Given the description of an element on the screen output the (x, y) to click on. 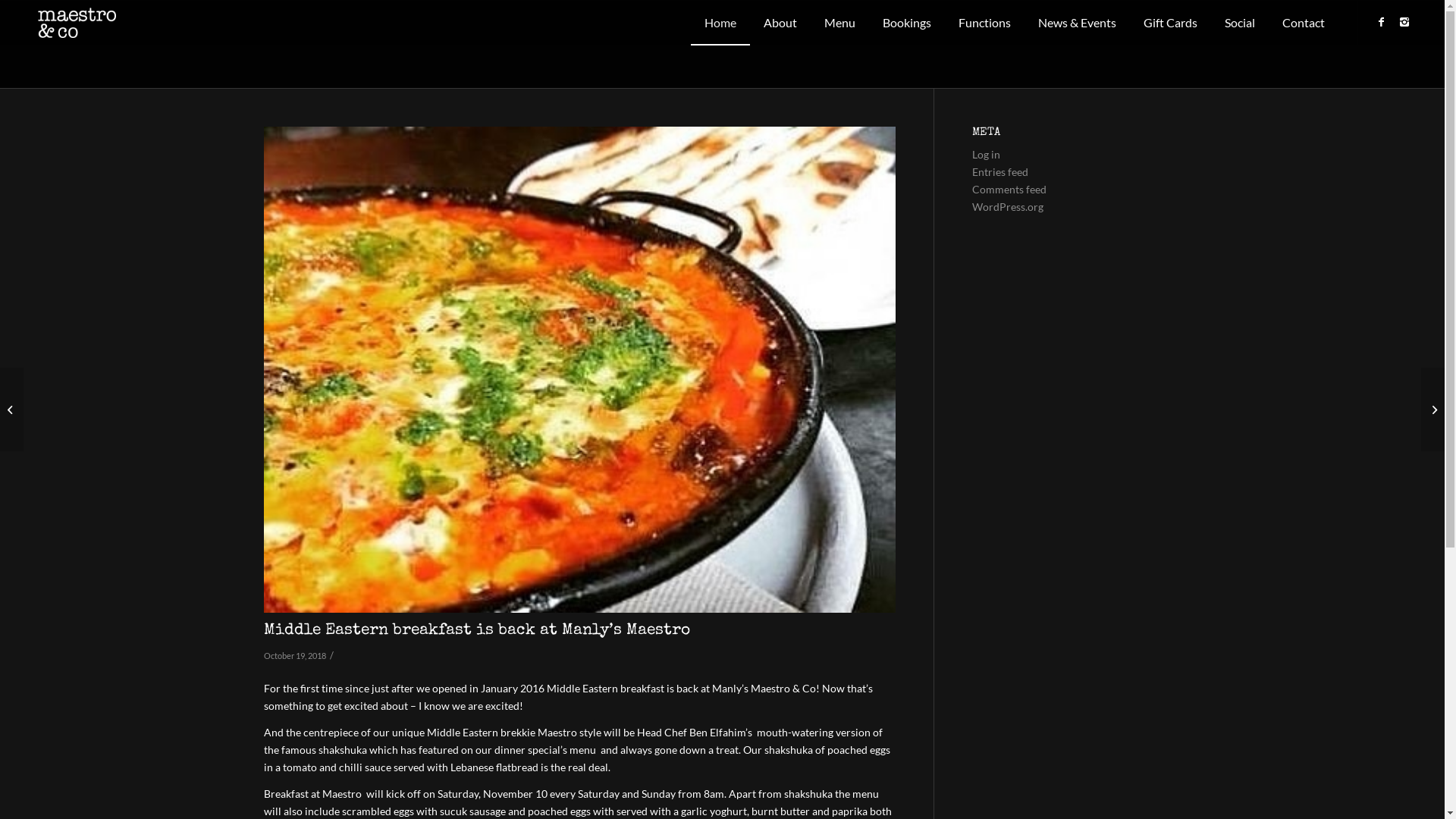
Log in Element type: text (986, 153)
Menu Element type: text (839, 22)
Bookings Element type: text (906, 22)
WordPress.org Element type: text (1007, 206)
News & Events Element type: text (1076, 22)
Entries feed Element type: text (1000, 171)
Instagram Element type: hover (1404, 21)
Gift Cards Element type: text (1170, 22)
Contact Element type: text (1303, 22)
Comments feed Element type: text (1009, 188)
Facebook Element type: hover (1381, 21)
Maestro's delicious  shakshuka Element type: hover (579, 369)
Functions Element type: text (984, 22)
Home Element type: text (719, 22)
About Element type: text (779, 22)
Social Element type: text (1239, 22)
